Given the description of an element on the screen output the (x, y) to click on. 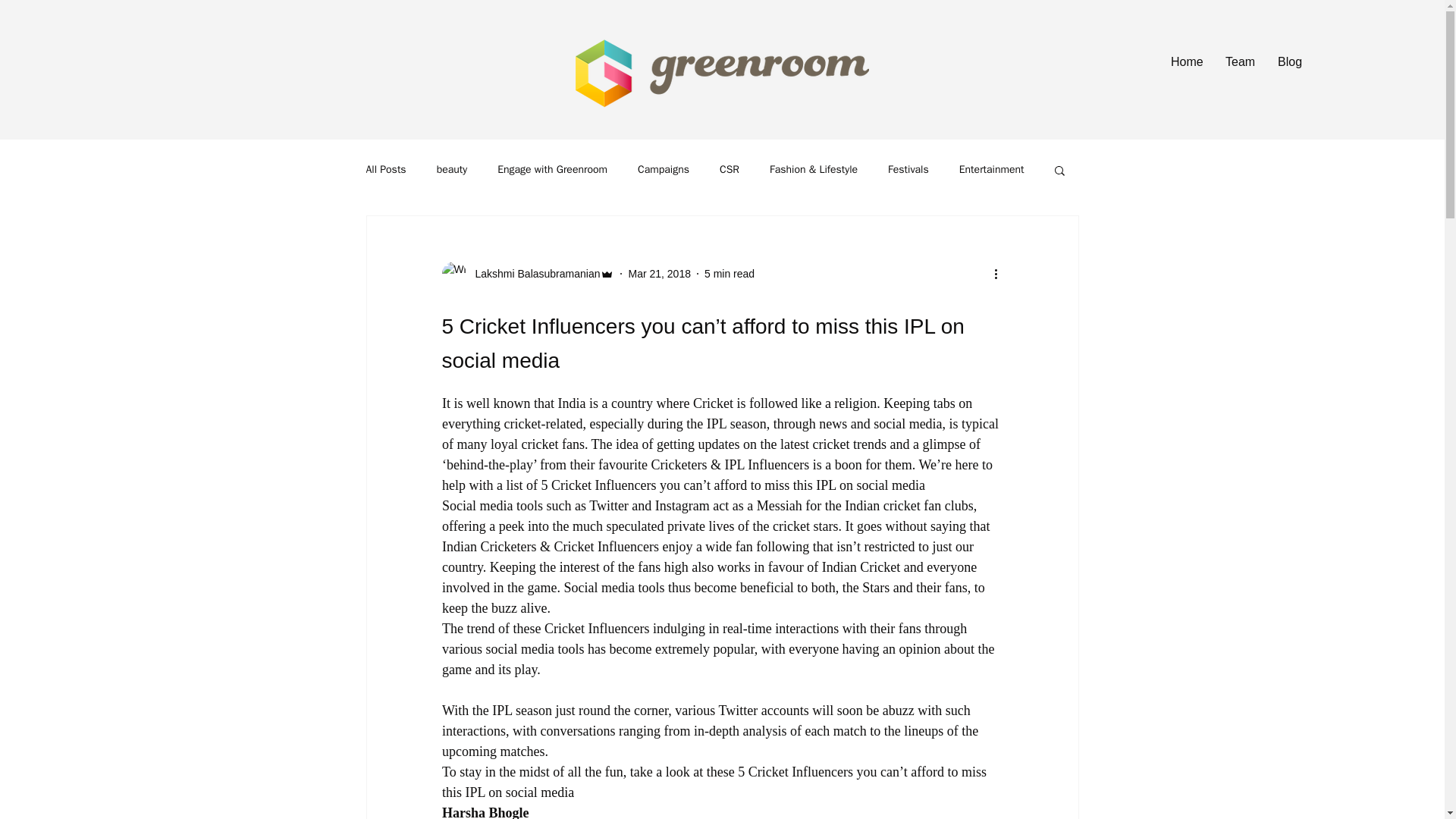
Lakshmi Balasubramanian (527, 273)
Festivals (908, 169)
5 min read (729, 272)
beauty (451, 169)
Team (1240, 61)
Lakshmi Balasubramanian (532, 273)
Home (1186, 61)
CSR (729, 169)
All Posts (385, 169)
Blog (1289, 61)
Mar 21, 2018 (658, 272)
Campaigns (662, 169)
Entertainment (992, 169)
Engage with Greenroom (552, 169)
